Given the description of an element on the screen output the (x, y) to click on. 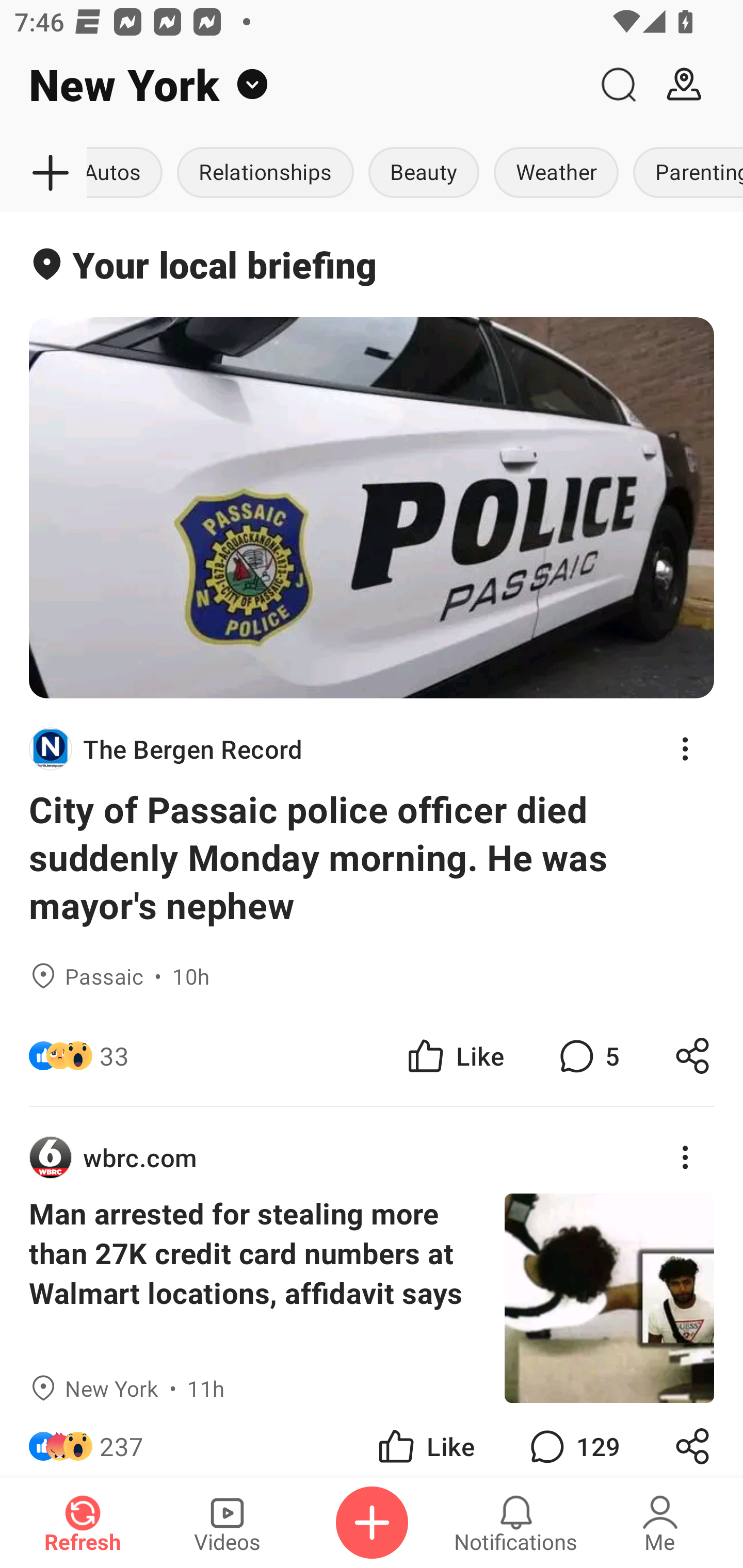
New York (292, 84)
Autos (127, 172)
Relationships (265, 172)
Beauty (423, 172)
Weather (555, 172)
Parenting (684, 172)
33 (114, 1055)
Like (454, 1055)
5 (587, 1055)
237 (121, 1440)
Like (425, 1440)
129 (572, 1440)
Videos (227, 1522)
Notifications (516, 1522)
Me (659, 1522)
